Given the description of an element on the screen output the (x, y) to click on. 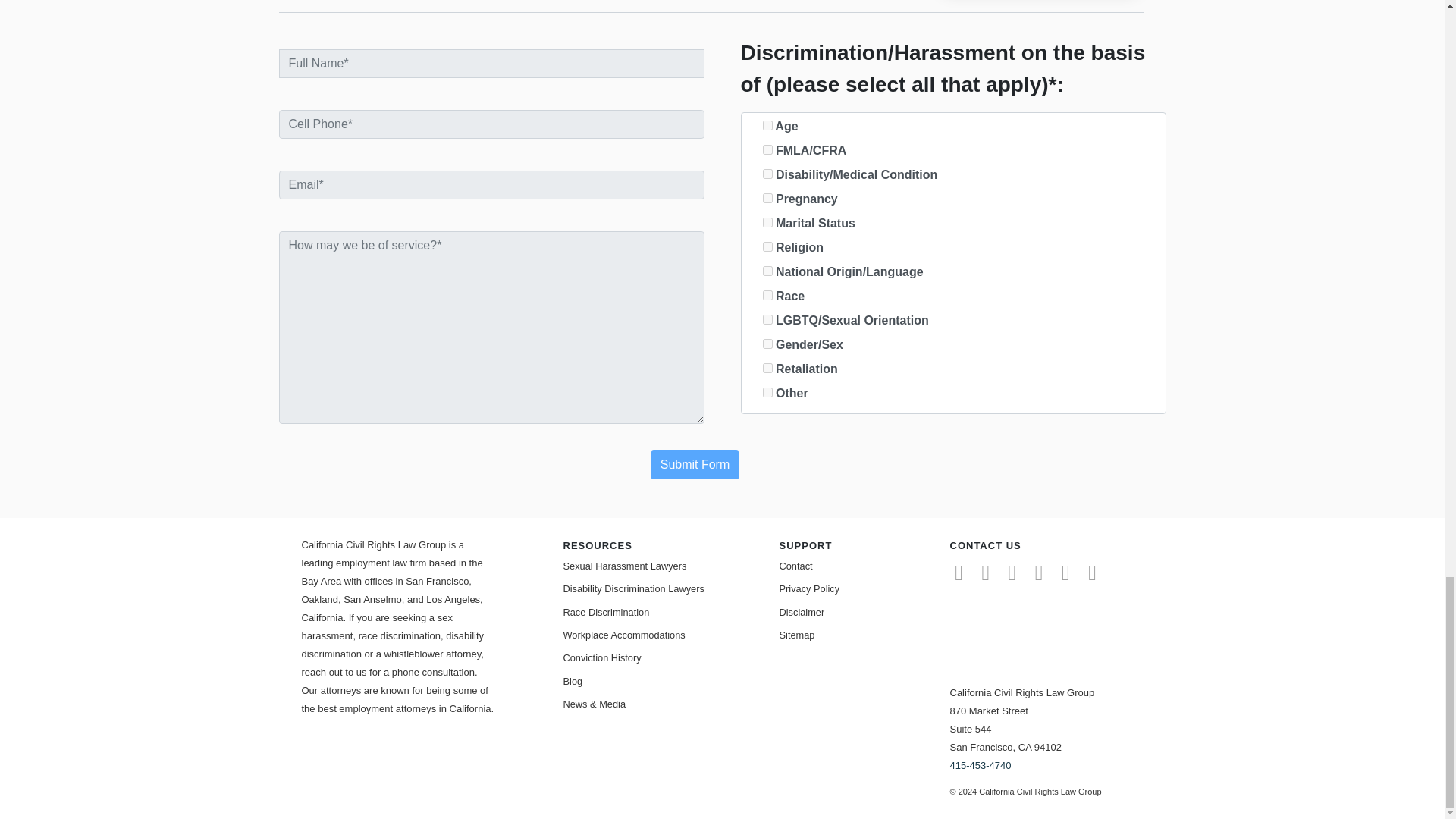
Retaliation (767, 368)
Disability Discrimination Lawyers (658, 589)
Race (767, 295)
Sexual Harassment Lawyers (658, 566)
Religion (767, 246)
Disability Discrimination Lawyers (658, 589)
Blog (658, 680)
Age (767, 125)
Disclaimer (875, 611)
Submit Form (694, 464)
Contact (875, 566)
Privacy Policy (875, 589)
Contact (875, 566)
Blog (658, 680)
Marital Status (767, 222)
